Given the description of an element on the screen output the (x, y) to click on. 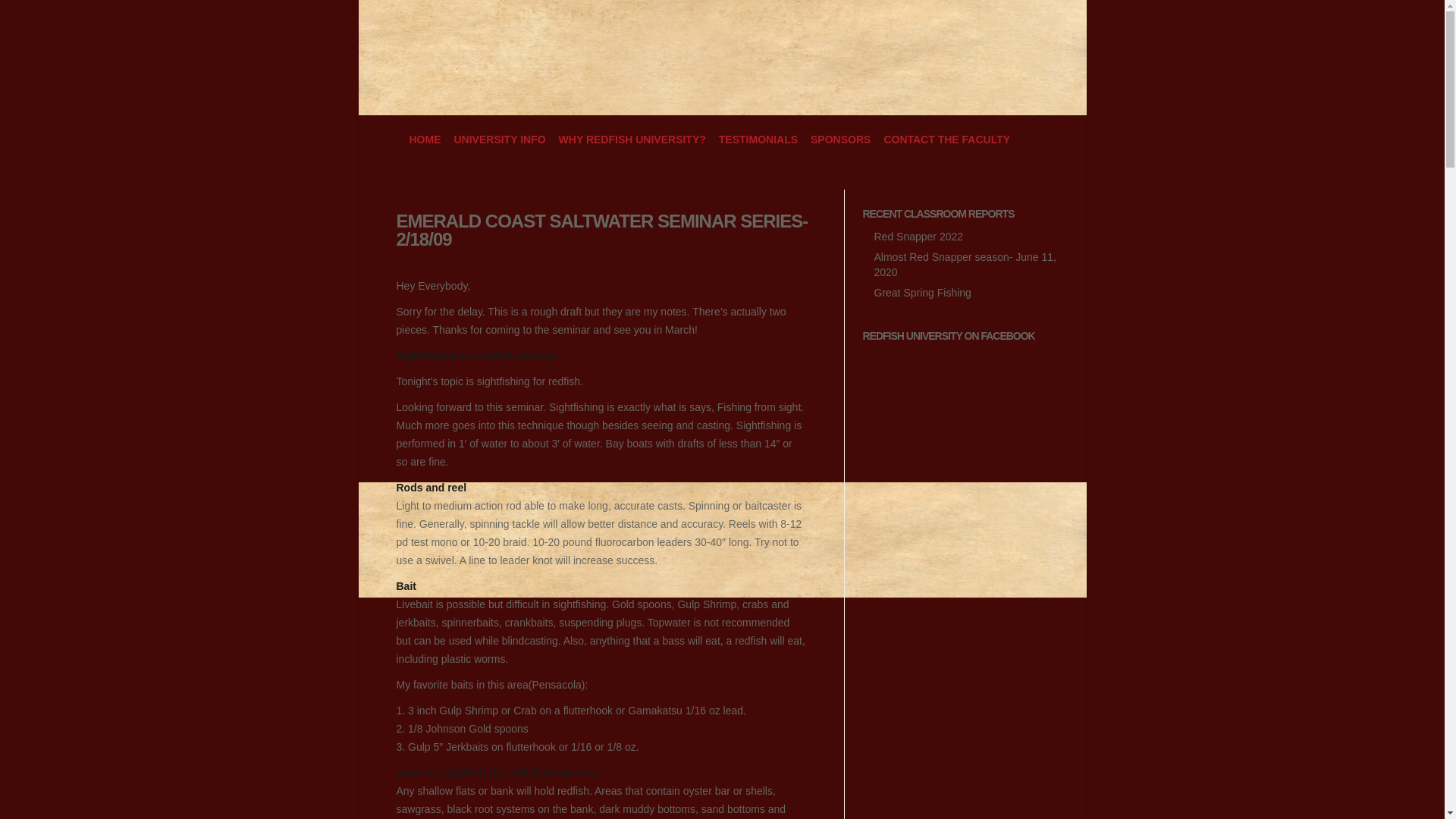
HOME (425, 139)
WHY REDFISH UNIVERSITY? (632, 139)
SPONSORS (840, 139)
Red Snapper 2022 (917, 236)
CONTACT THE FACULTY (946, 139)
Great Spring Fishing (922, 292)
Almost Red Snapper season- June 11, 2020 (964, 264)
TESTIMONIALS (758, 139)
UNIVERSITY INFO (498, 139)
